Given the description of an element on the screen output the (x, y) to click on. 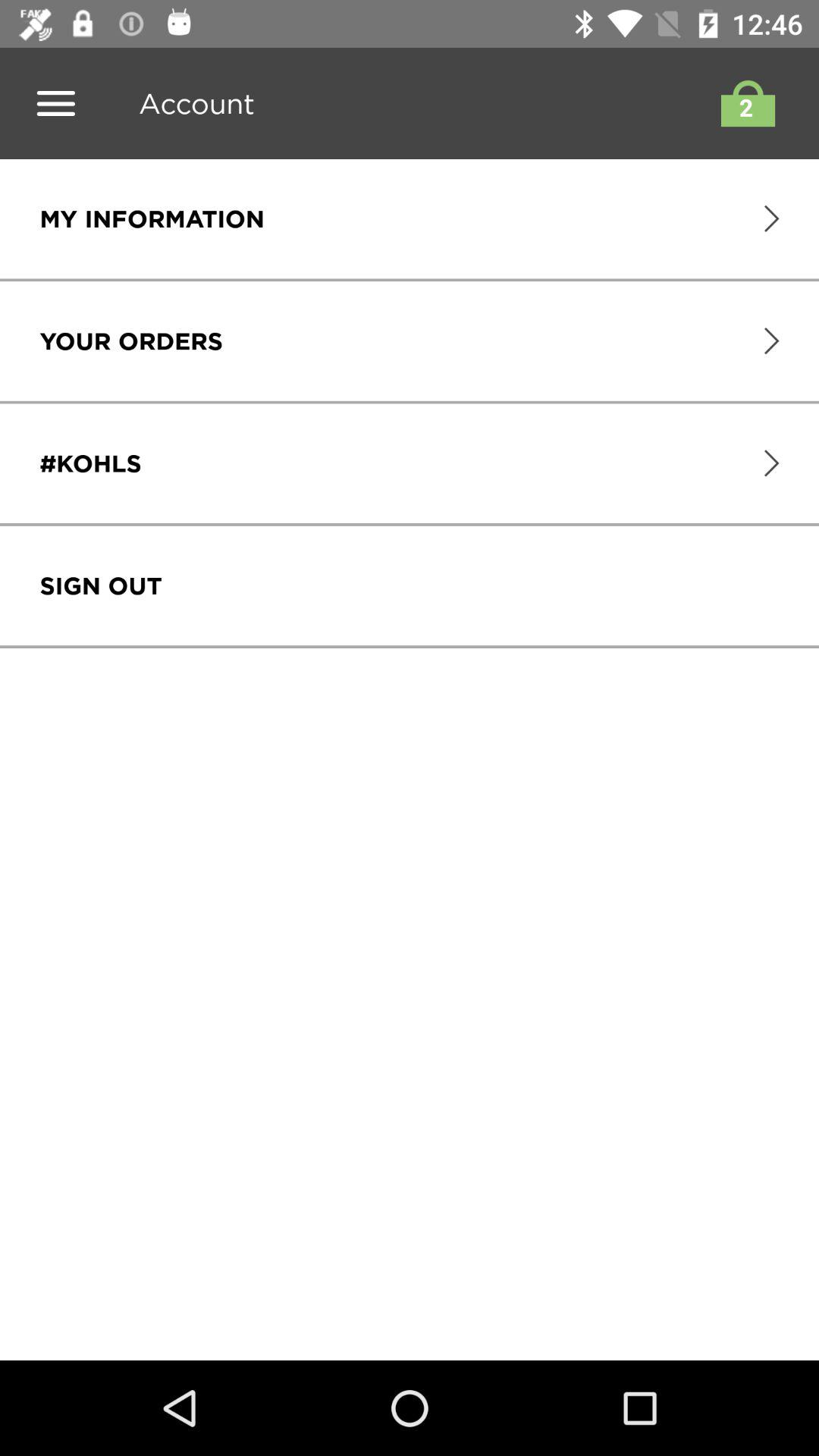
switch menu option (55, 103)
